Given the description of an element on the screen output the (x, y) to click on. 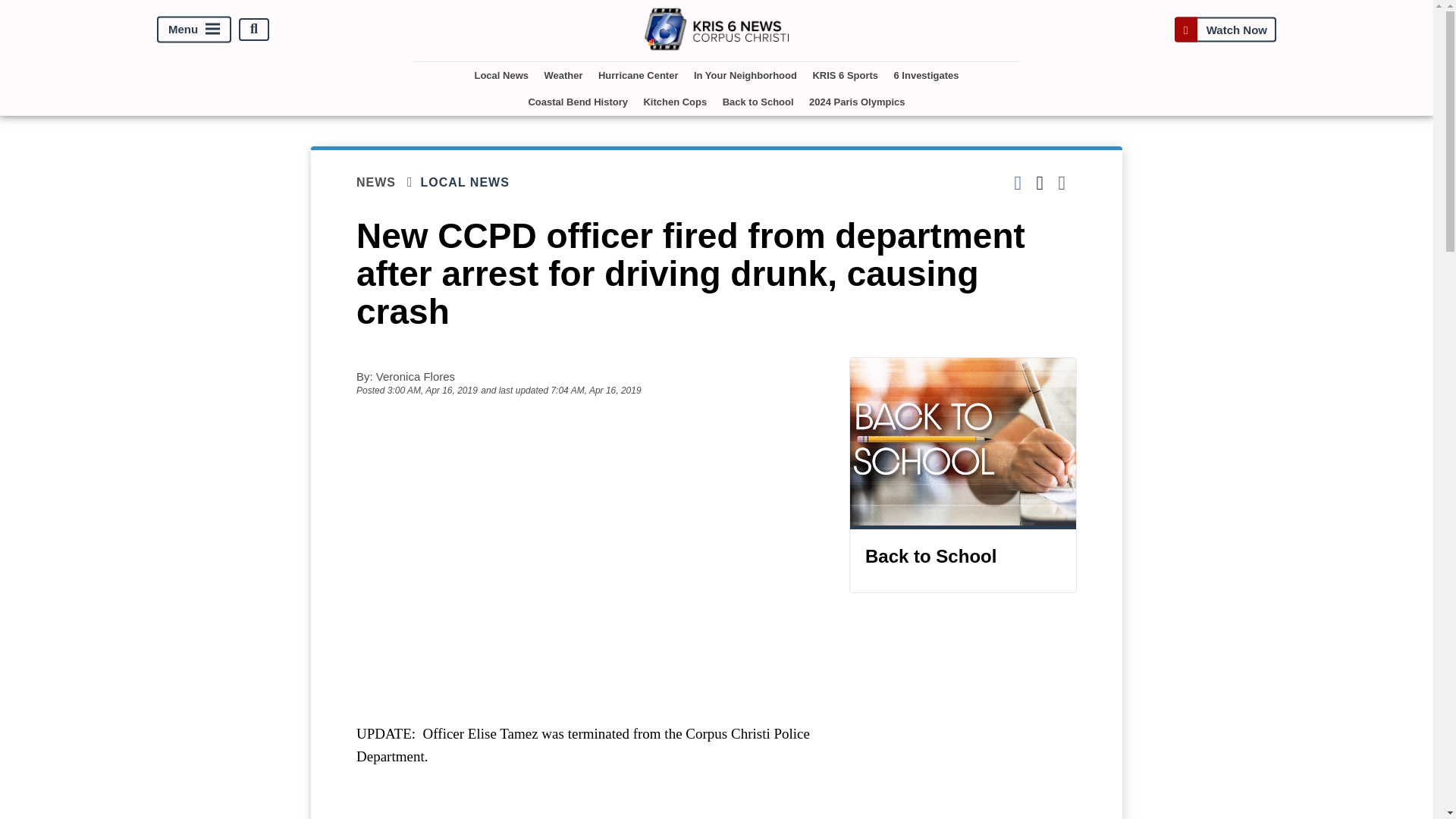
Watch Now (1224, 29)
YouTube player (587, 540)
Menu (194, 28)
